Given the description of an element on the screen output the (x, y) to click on. 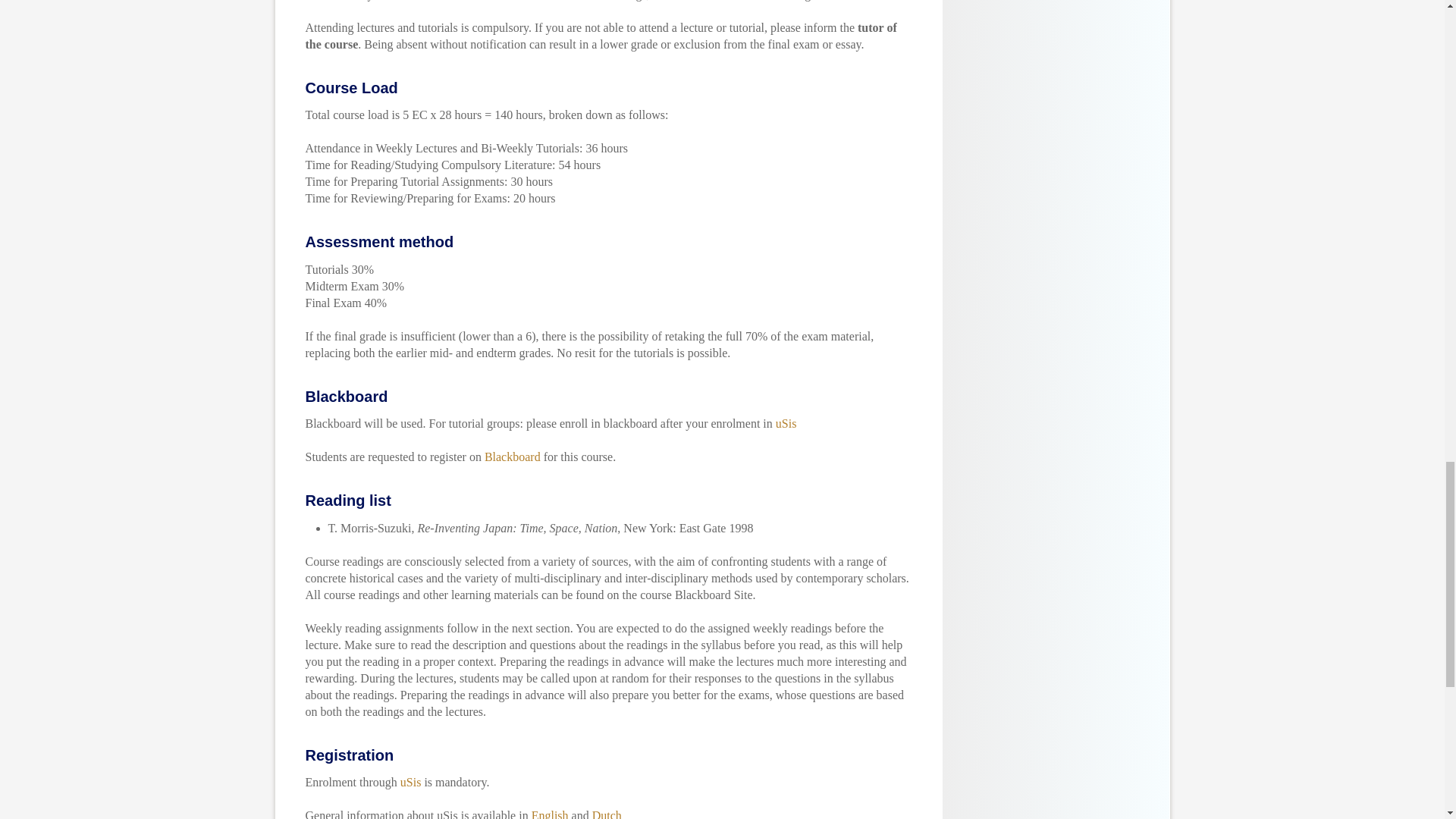
uSis (411, 781)
English (550, 814)
Blackboard (512, 456)
Dutch (606, 814)
uSis (786, 422)
